Given the description of an element on the screen output the (x, y) to click on. 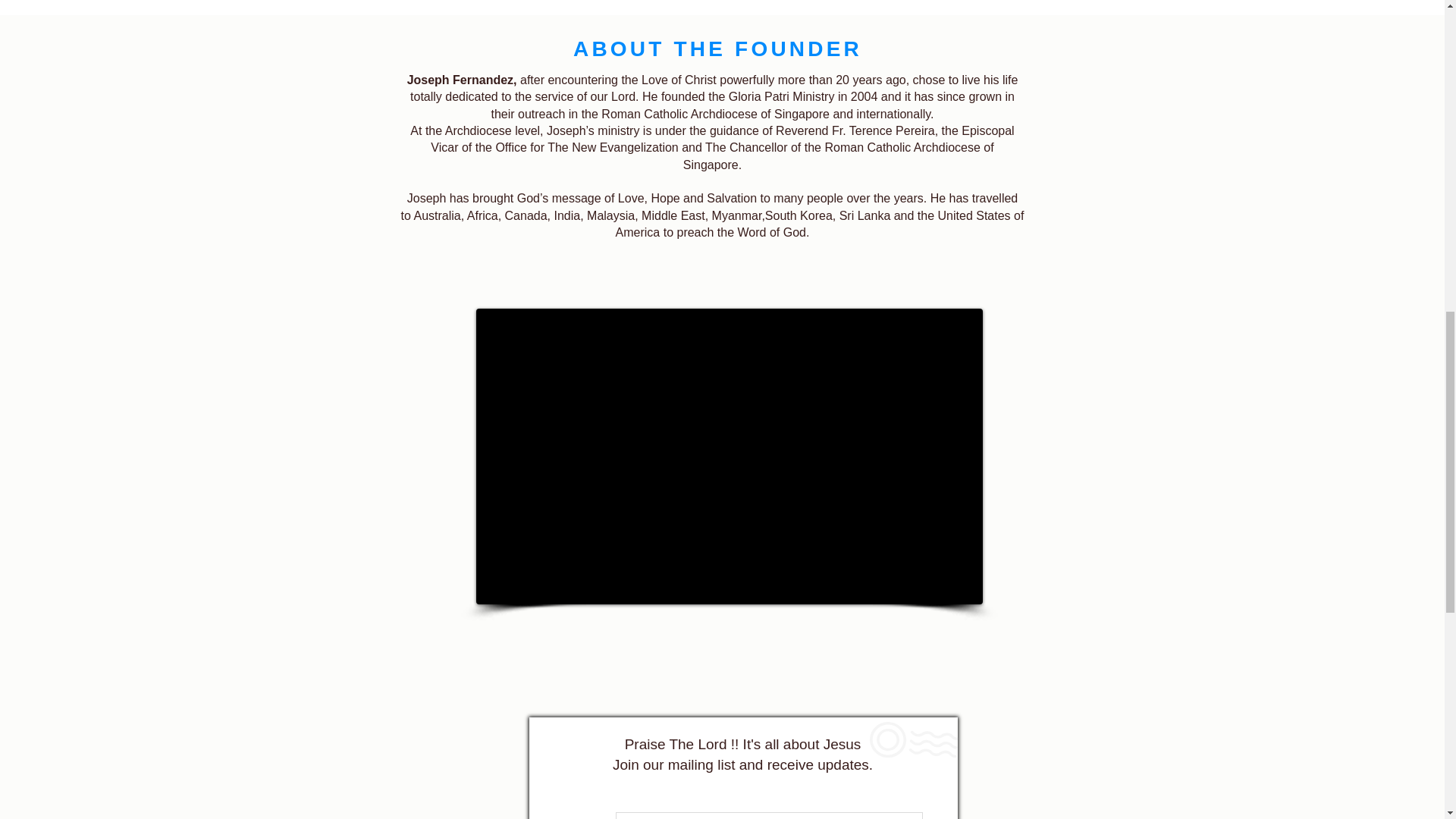
ABOUT THE FOUNDER (717, 48)
Terence Pereira (891, 130)
